Given the description of an element on the screen output the (x, y) to click on. 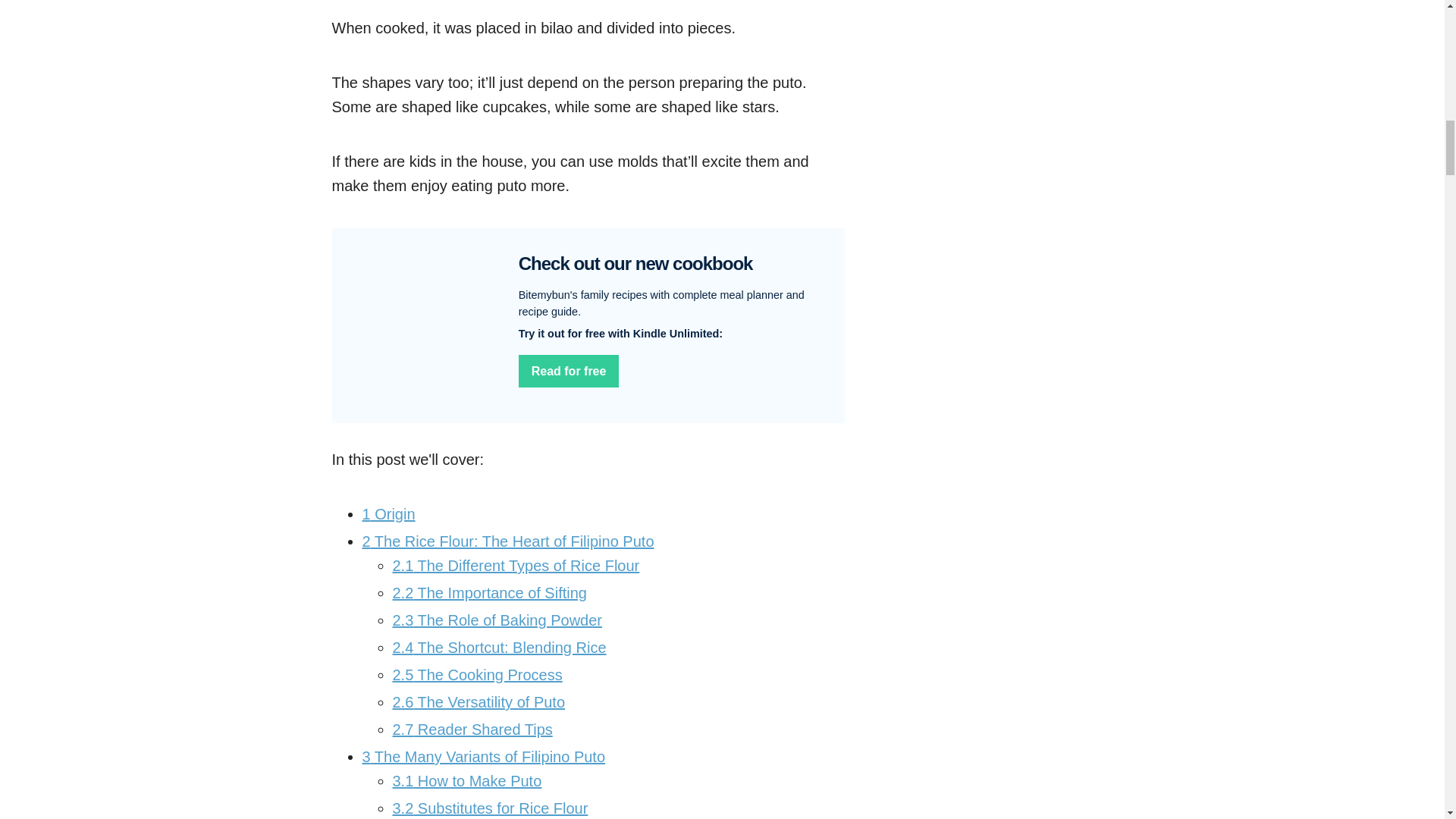
2.5 The Cooking Process (477, 674)
2.4 The Shortcut: Blending Rice (500, 647)
2 The Rice Flour: The Heart of Filipino Puto (507, 541)
3.1 How to Make Puto (467, 781)
3 The Many Variants of Filipino Puto (483, 756)
2.2 The Importance of Sifting (489, 592)
Read for free (569, 371)
2.1 The Different Types of Rice Flour (516, 565)
1 Origin (388, 514)
2.3 The Role of Baking Powder (497, 619)
